Given the description of an element on the screen output the (x, y) to click on. 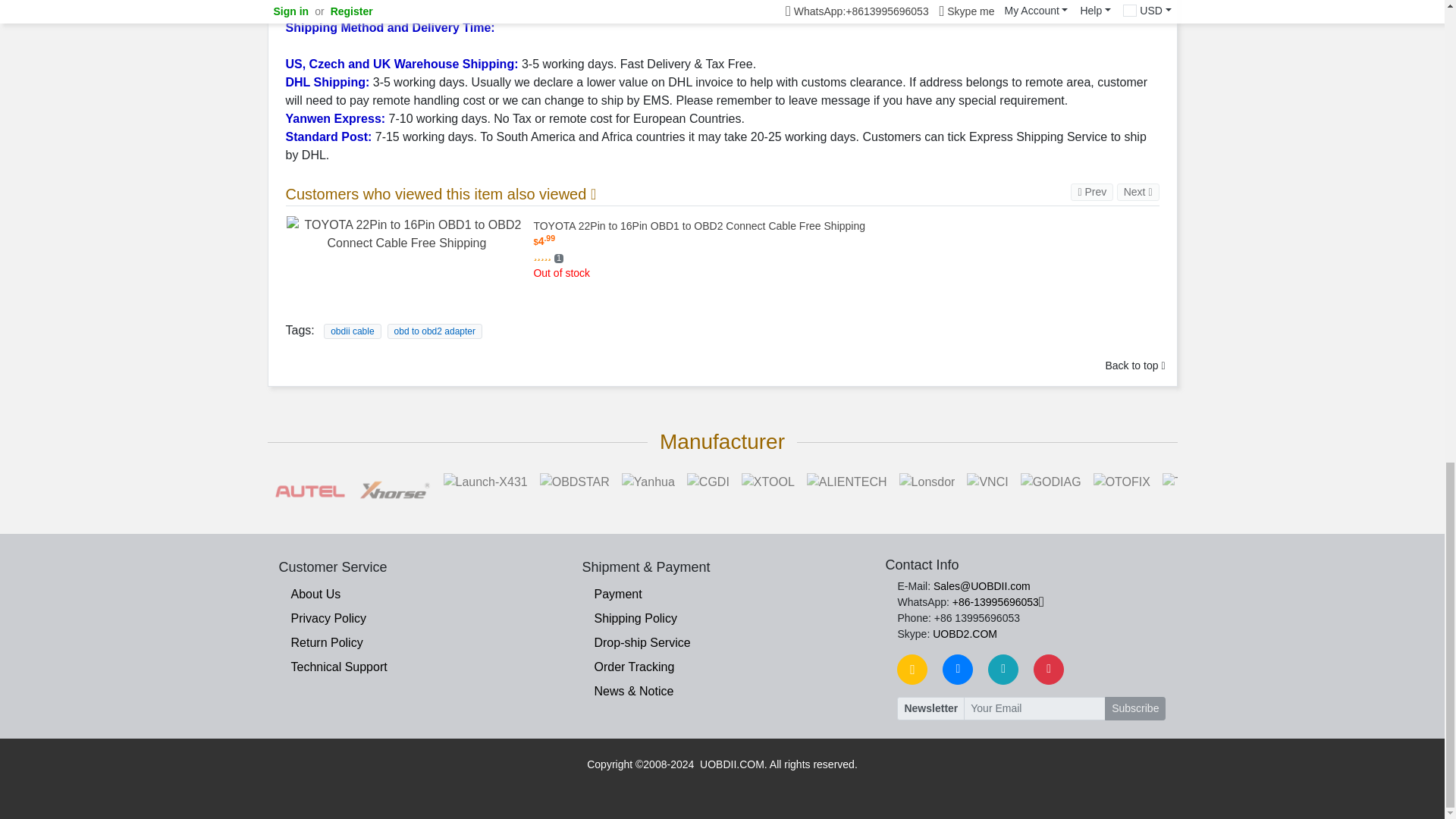
Facebook (957, 669)
YouTube (1048, 669)
Twitter (1002, 669)
UOBDII Official Blog (911, 669)
